Given the description of an element on the screen output the (x, y) to click on. 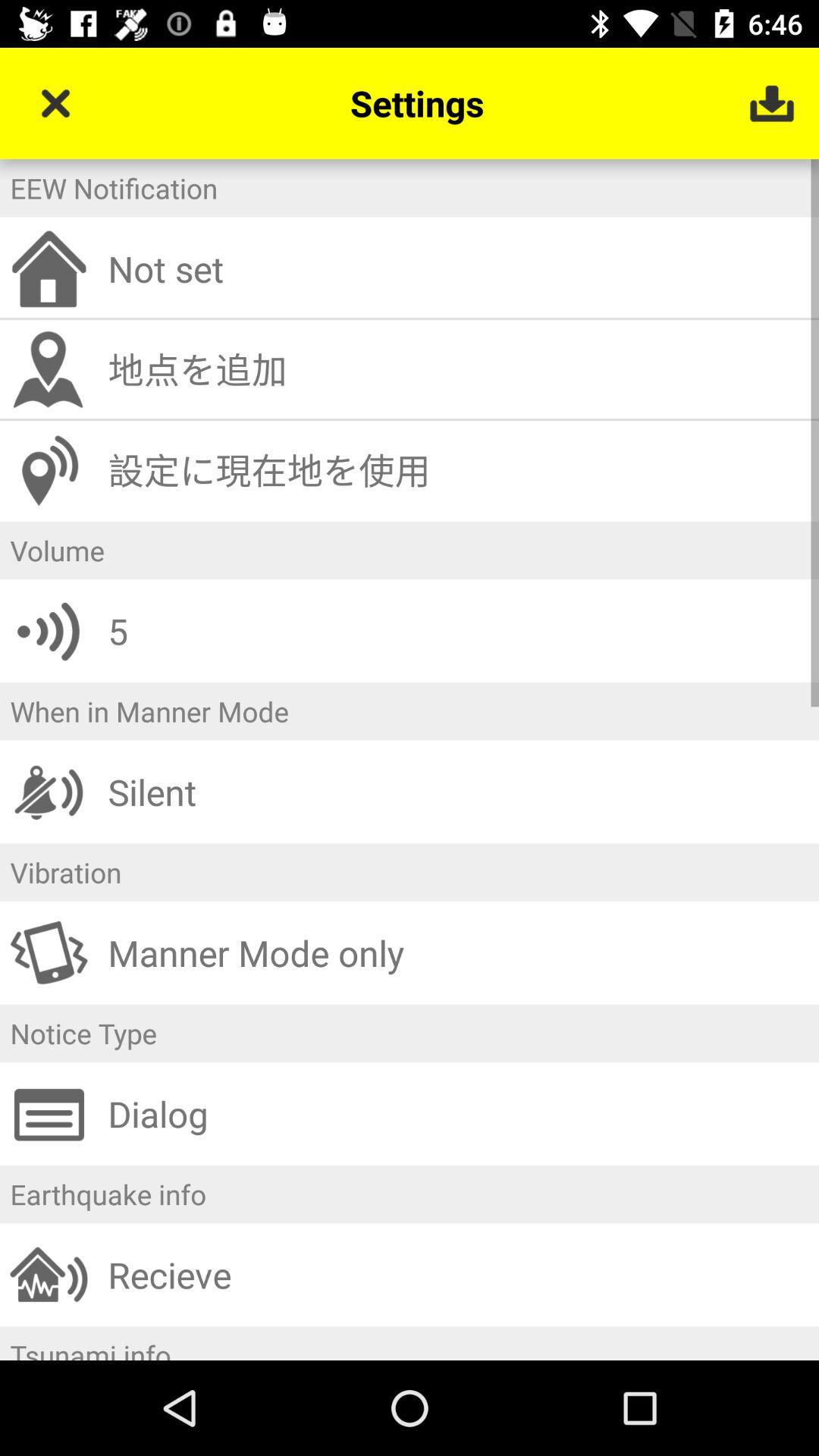
tap item above the eew notification (55, 103)
